Given the description of an element on the screen output the (x, y) to click on. 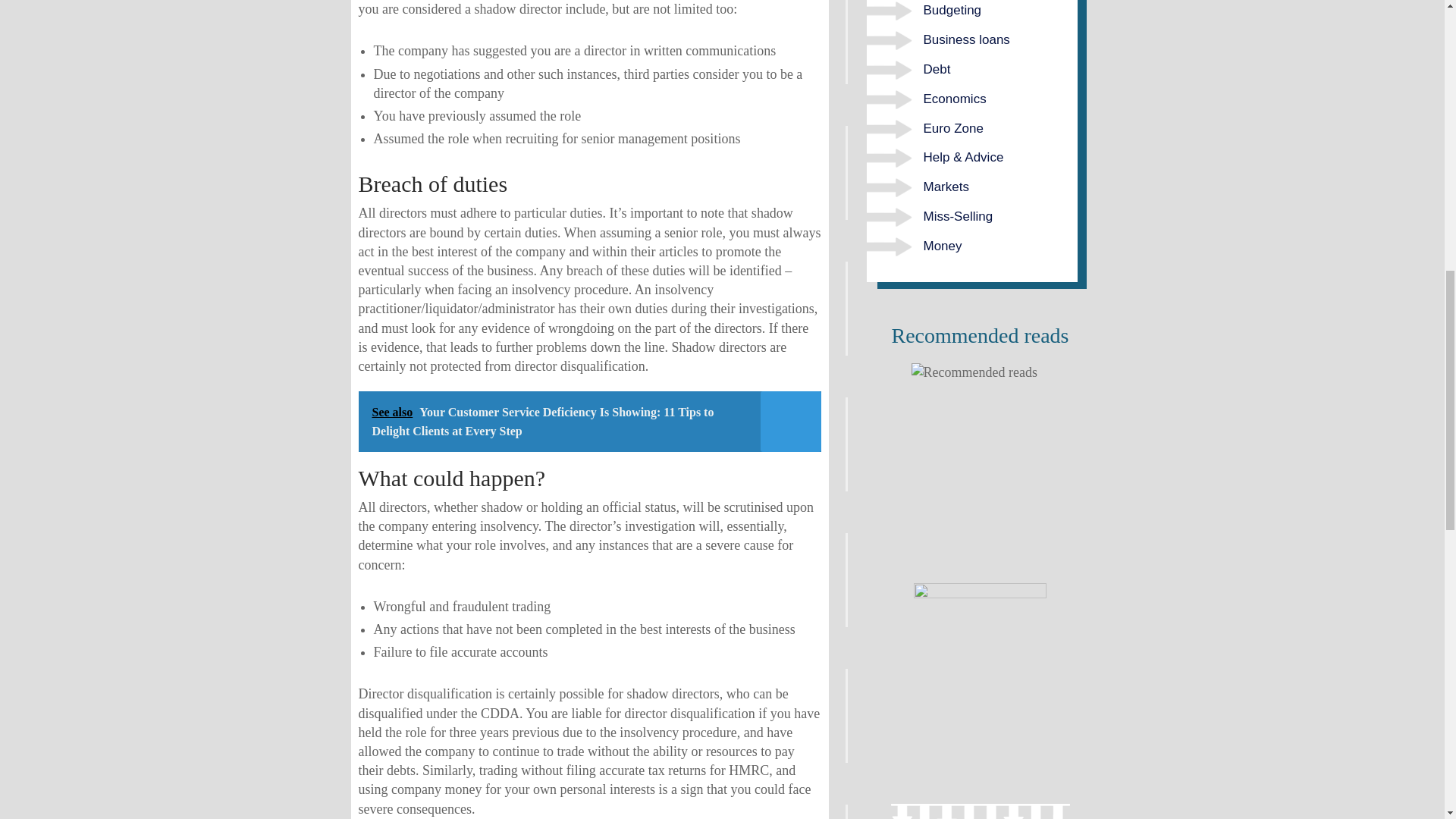
Budgeting (952, 10)
Recommended reads (979, 469)
Business loans (966, 39)
Economics (955, 98)
Markets (946, 186)
Money (942, 246)
Debt (936, 69)
Euro Zone (953, 128)
Miss-Selling (957, 216)
